Given the description of an element on the screen output the (x, y) to click on. 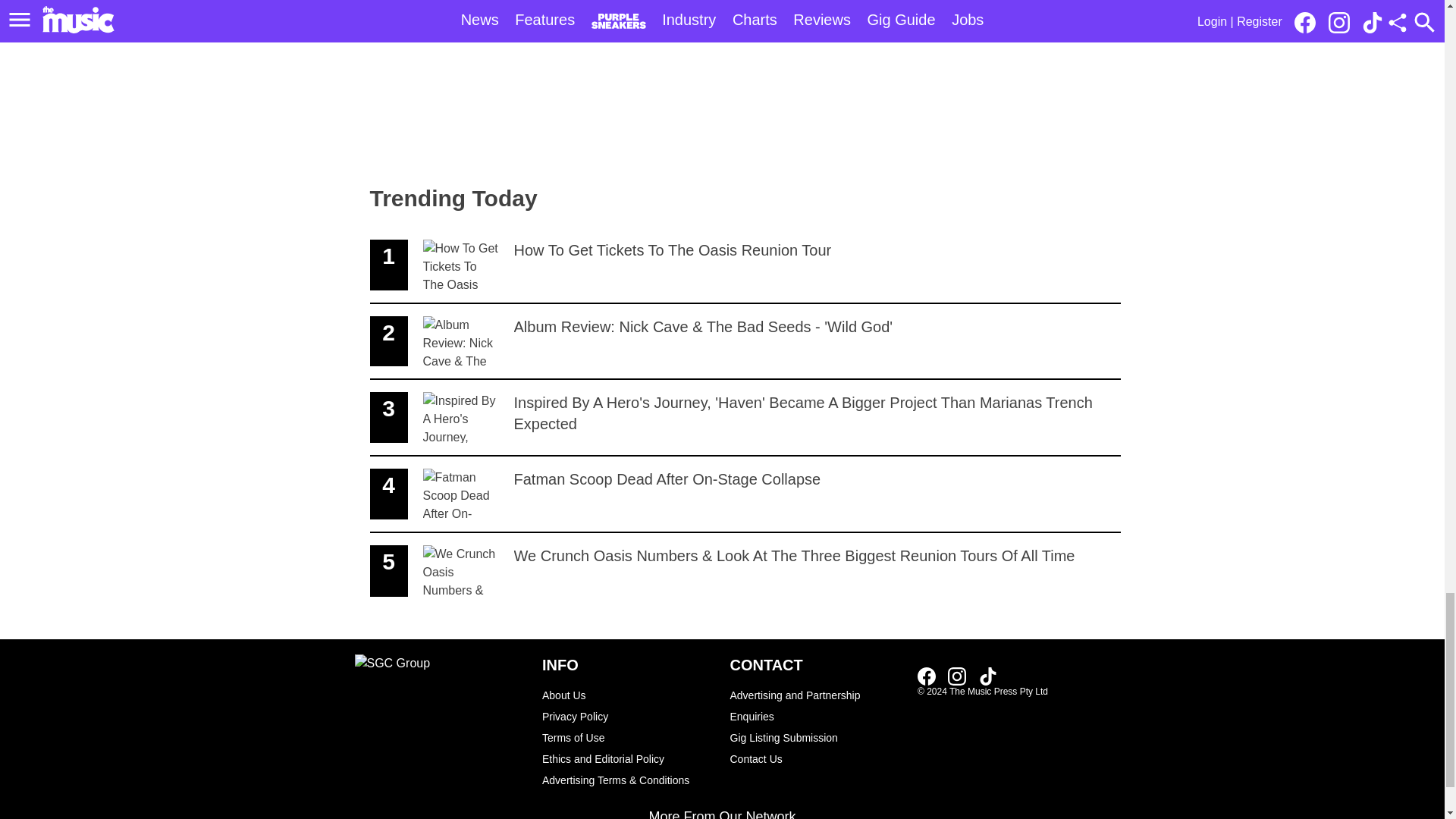
Gig Listing Submission (815, 737)
About Us (627, 694)
Link to our TikTok (987, 676)
Privacy Policy (627, 716)
Advertising and Partnership Enquiries (815, 705)
Link to our Instagram (956, 676)
Terms of Use (745, 494)
Link to our Facebook (627, 737)
Ethics and Editorial Policy (926, 676)
